Given the description of an element on the screen output the (x, y) to click on. 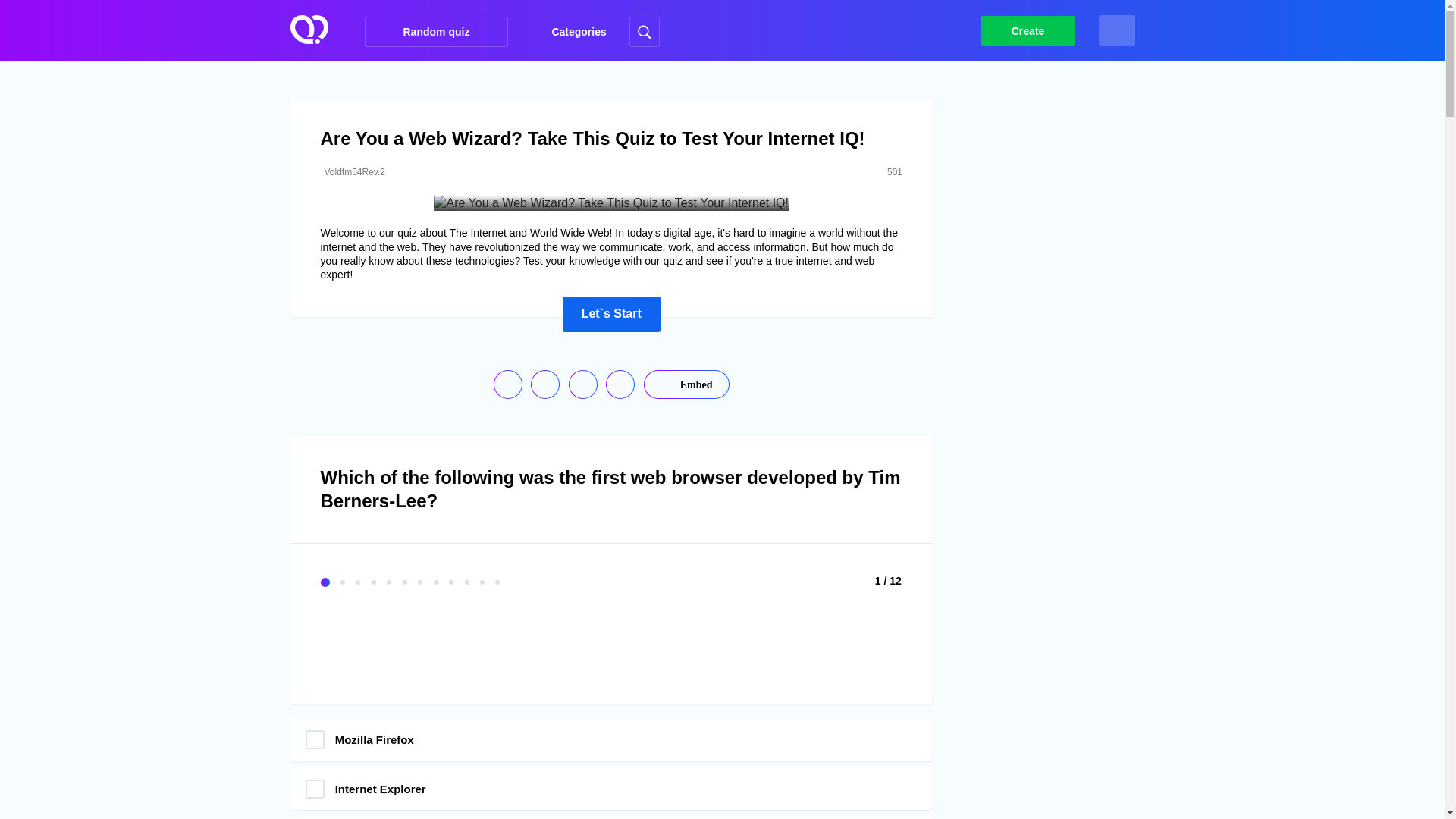
Random quiz (436, 31)
Create (1027, 30)
Embed (686, 384)
Categories (568, 31)
